Given the description of an element on the screen output the (x, y) to click on. 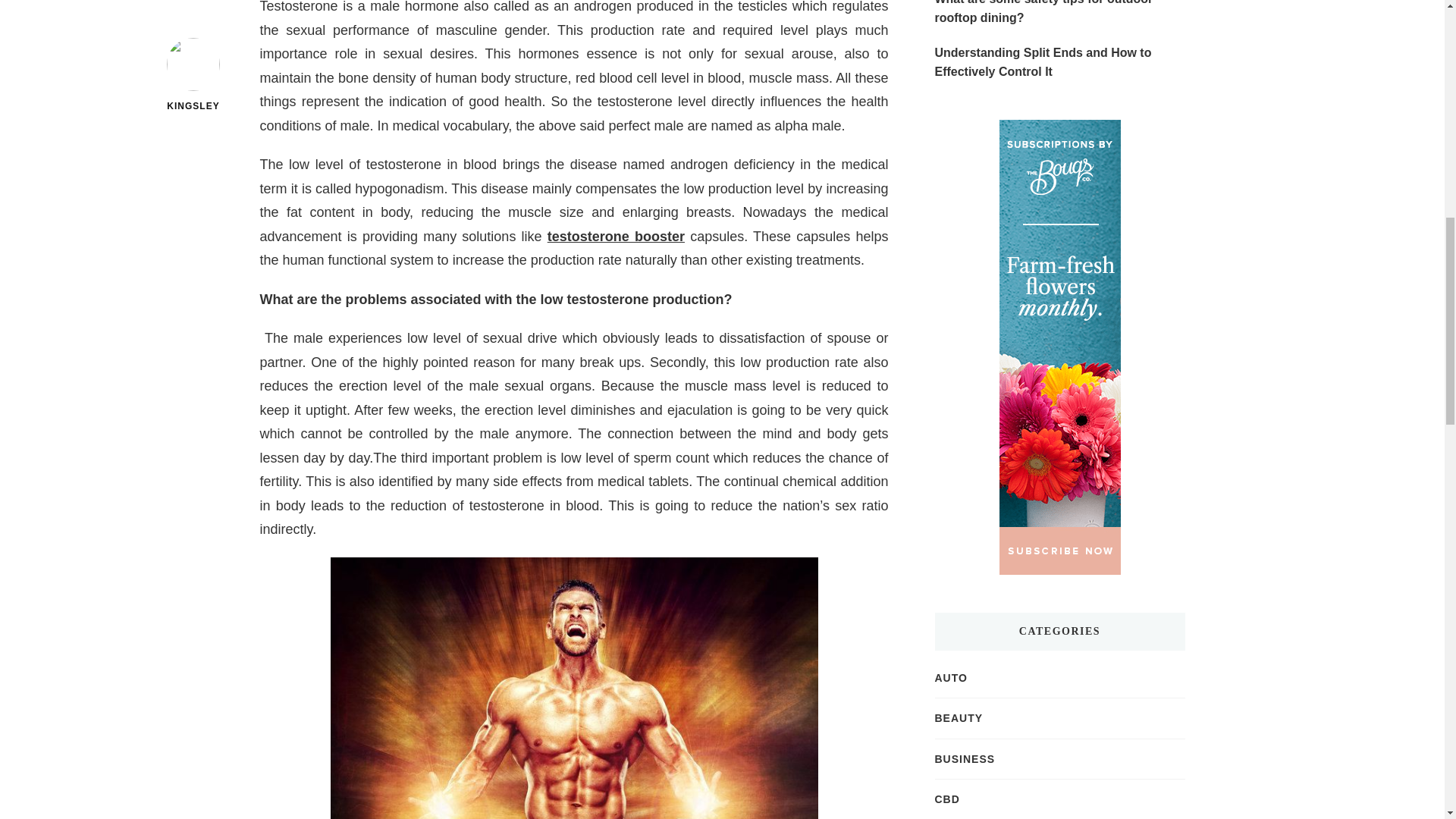
KINGSLEY (193, 35)
Understanding Split Ends and How to Effectively Control It (1059, 62)
What are some safety tips for outdoor rooftop dining? (1059, 13)
testosterone booster (615, 236)
